Given the description of an element on the screen output the (x, y) to click on. 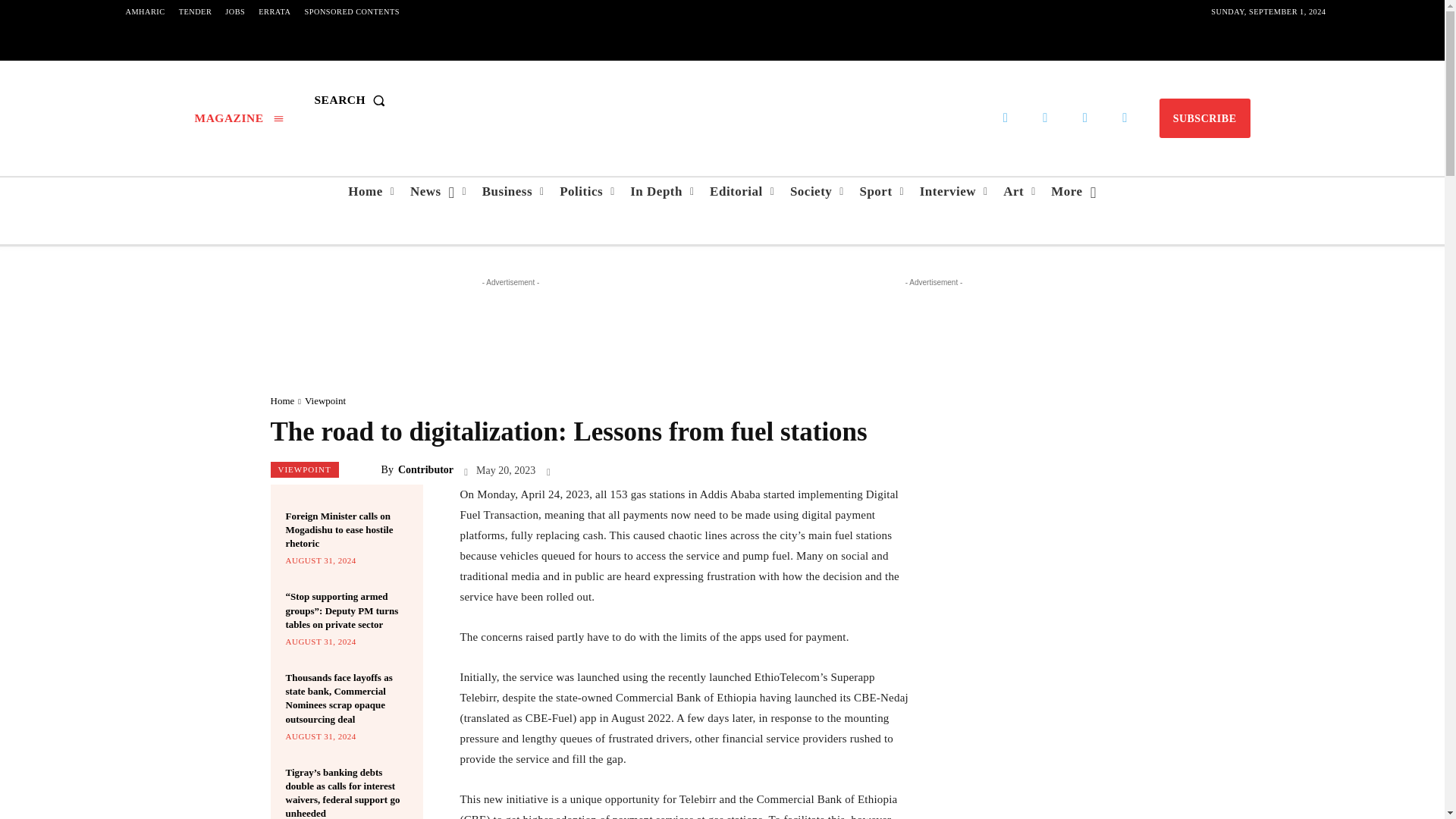
TENDER (195, 12)
Twitter (1085, 118)
SPONSORED CONTENTS (352, 12)
MAGAZINE (238, 117)
Magazine (238, 117)
The Reporter Ethiopia, Ethiopian News (721, 99)
The Reporter Ethiopia, Ethiopian News (721, 99)
JOBS (234, 12)
ERRATA (274, 12)
Telegram (1045, 118)
